Given the description of an element on the screen output the (x, y) to click on. 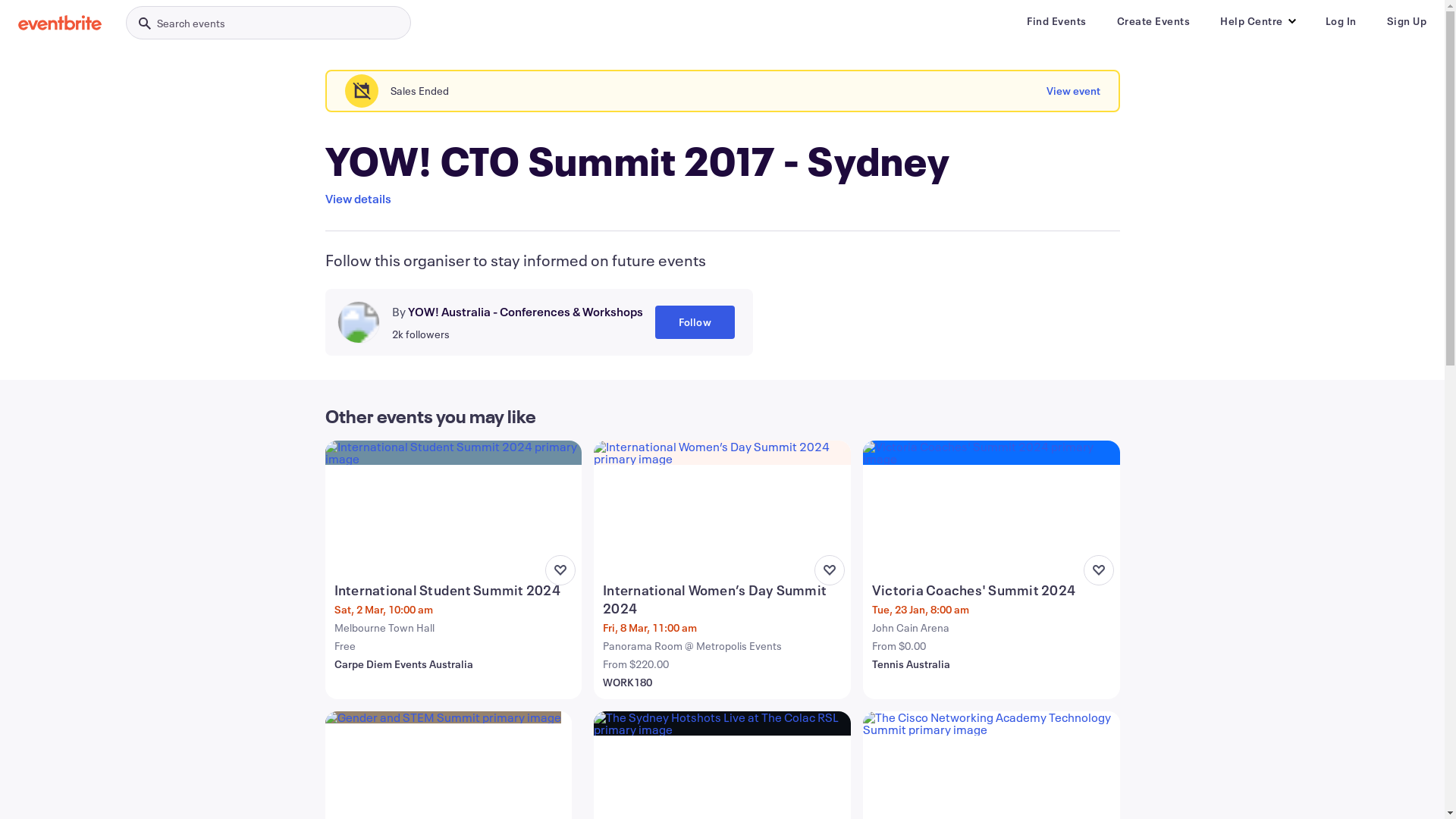
Create Events Element type: text (1152, 21)
Follow Element type: text (694, 321)
Log In Element type: text (1340, 21)
Victoria Coaches' Summit 2024 Element type: text (992, 589)
Search events Element type: text (268, 22)
Sign Up Element type: text (1406, 21)
Eventbrite Element type: hover (59, 22)
View details Element type: text (357, 198)
International Student Summit 2024 Element type: text (454, 589)
Find Events Element type: text (1056, 21)
View event Element type: text (1073, 90)
